Given the description of an element on the screen output the (x, y) to click on. 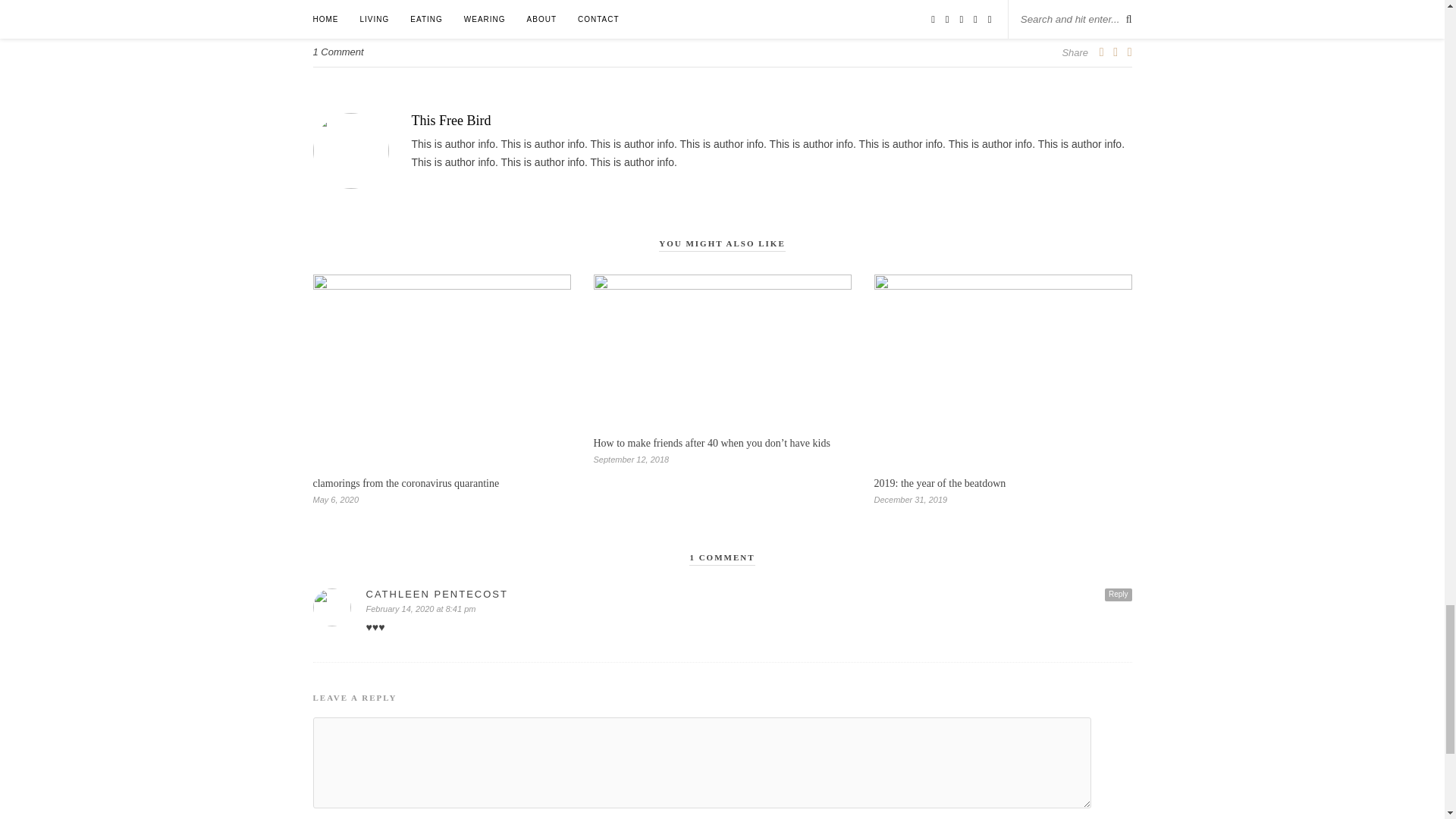
1 Comment (337, 51)
CELEBRATE LOVE EVERY DAY (383, 8)
2019: the year of the beatdown (939, 482)
FAMILY (481, 8)
Reply (1118, 594)
This Free Bird (722, 120)
clamorings from the coronavirus quarantine (406, 482)
I LOVE MY FAMILY (553, 8)
VALENTINE'S DAY (648, 8)
Posts by This Free Bird (722, 120)
